Given the description of an element on the screen output the (x, y) to click on. 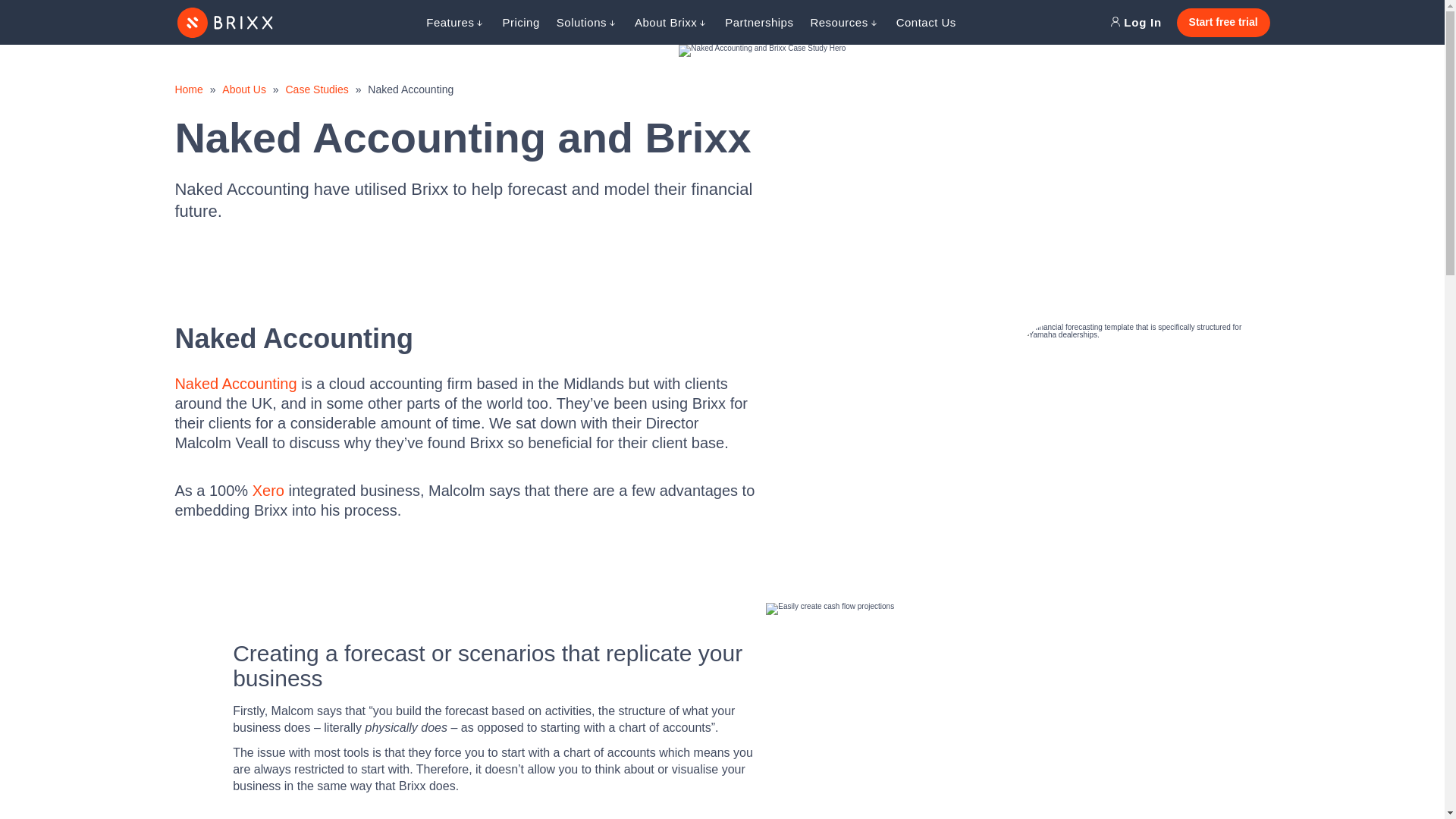
Case Studies (316, 89)
Features (455, 22)
Solutions (586, 22)
Home (188, 89)
Xero (267, 490)
Contact Us (926, 22)
Partnerships (759, 22)
Log In (1136, 22)
Pricing (520, 22)
About Brixx (670, 22)
Resources (844, 22)
Naked Accounting (235, 383)
Start free trial (1222, 22)
About Us (244, 89)
